Given the description of an element on the screen output the (x, y) to click on. 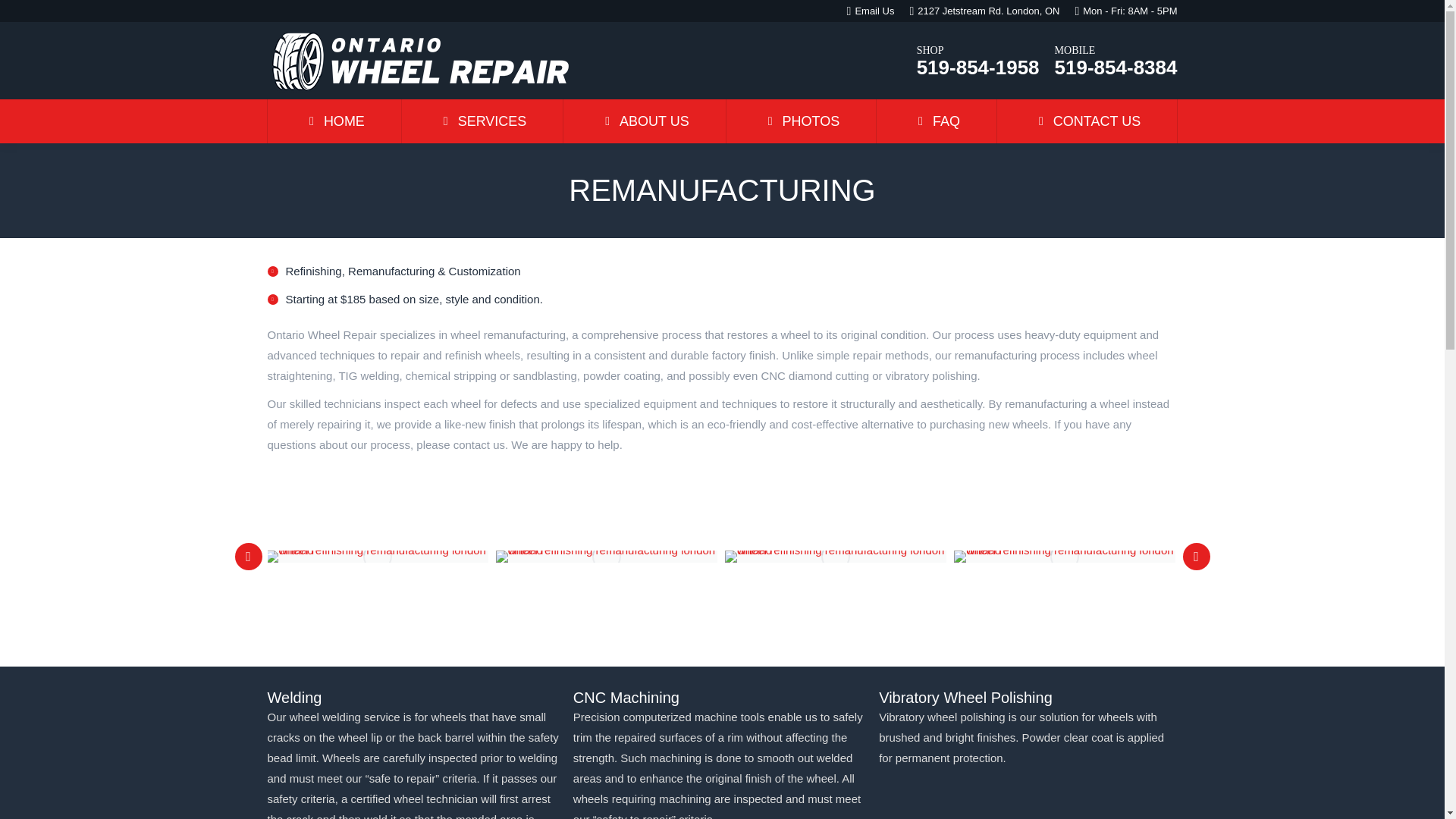
ABOUT US (644, 121)
CONTACT US (1085, 121)
PHOTOS (800, 121)
HOME (333, 121)
519-854-8384 (1115, 67)
SERVICES (481, 121)
Email Us (873, 11)
FAQ (936, 121)
2127 Jetstream Rd. London, ON (988, 11)
519-854-1958 (978, 67)
